Given the description of an element on the screen output the (x, y) to click on. 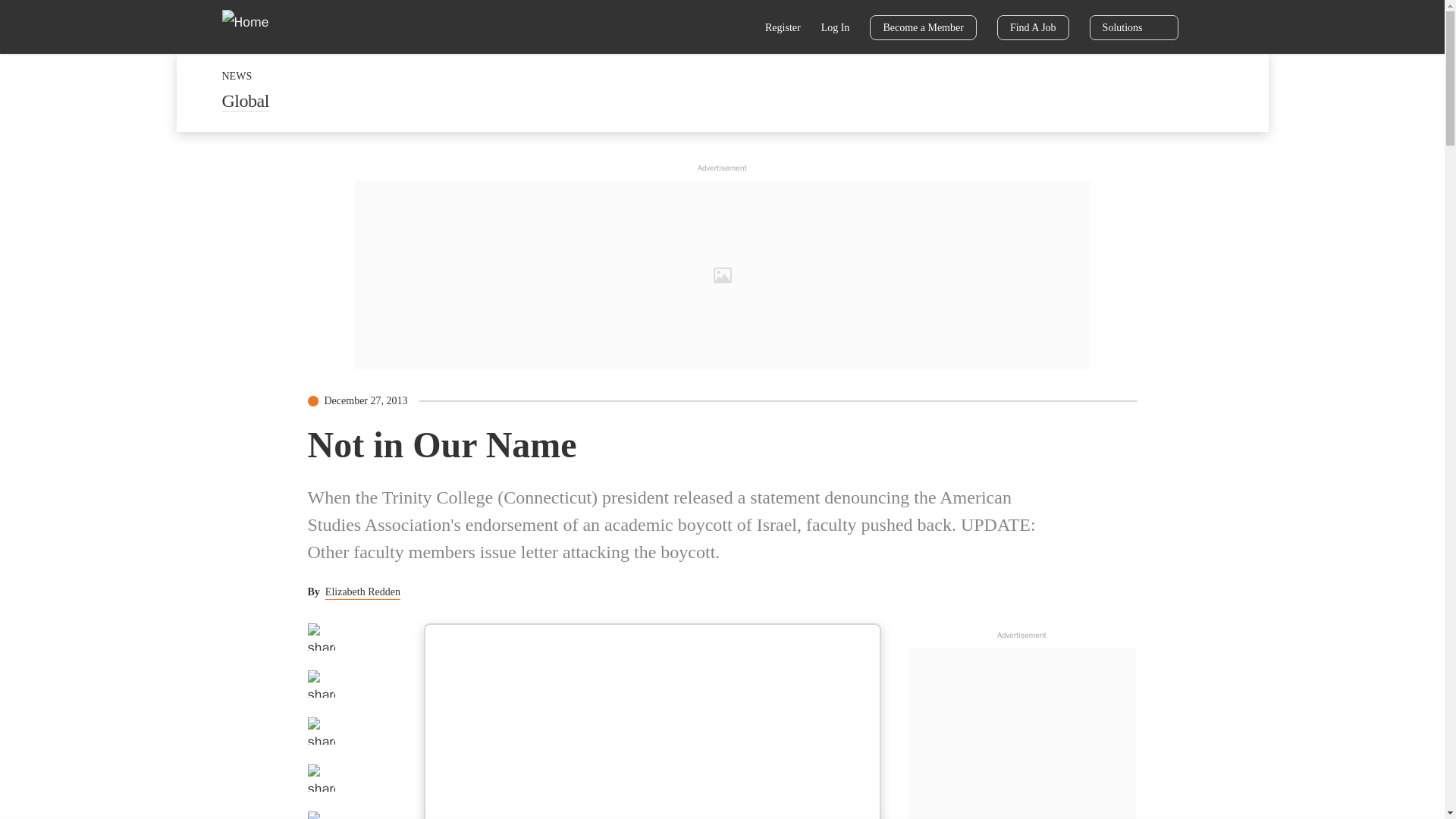
Find A Job (1032, 27)
share by email (320, 777)
Become a Member (922, 27)
Home (255, 26)
share to facebook (320, 636)
share to twitter (320, 683)
share to Linkedin (320, 730)
Search (736, 28)
